Given the description of an element on the screen output the (x, y) to click on. 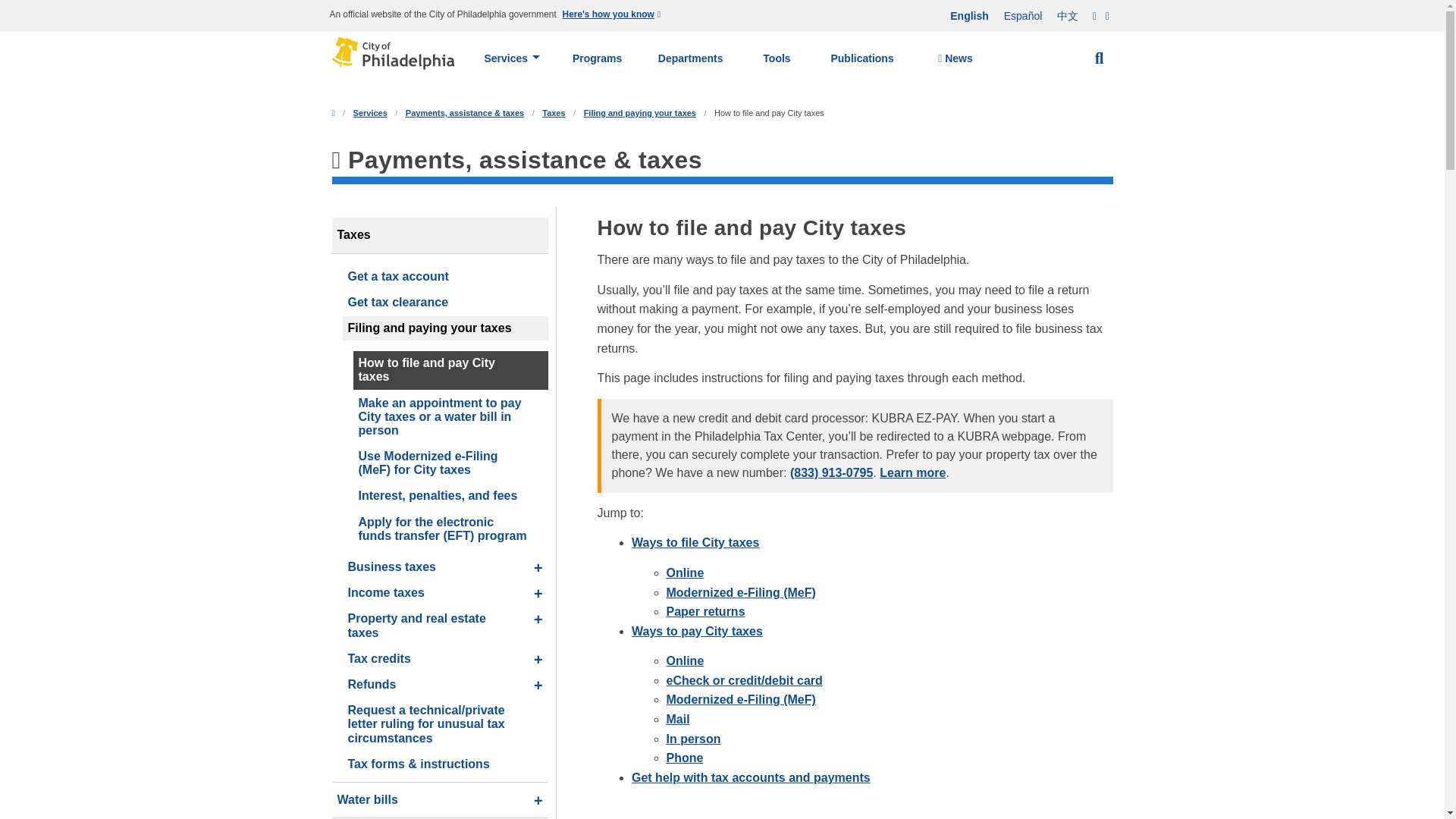
Services (511, 58)
Here's how you know (612, 15)
News (954, 58)
Filing and paying your taxes (639, 112)
Publications (862, 58)
Programs (597, 58)
Departments (690, 58)
Taxes (552, 112)
English (968, 15)
Tools (776, 58)
